Given the description of an element on the screen output the (x, y) to click on. 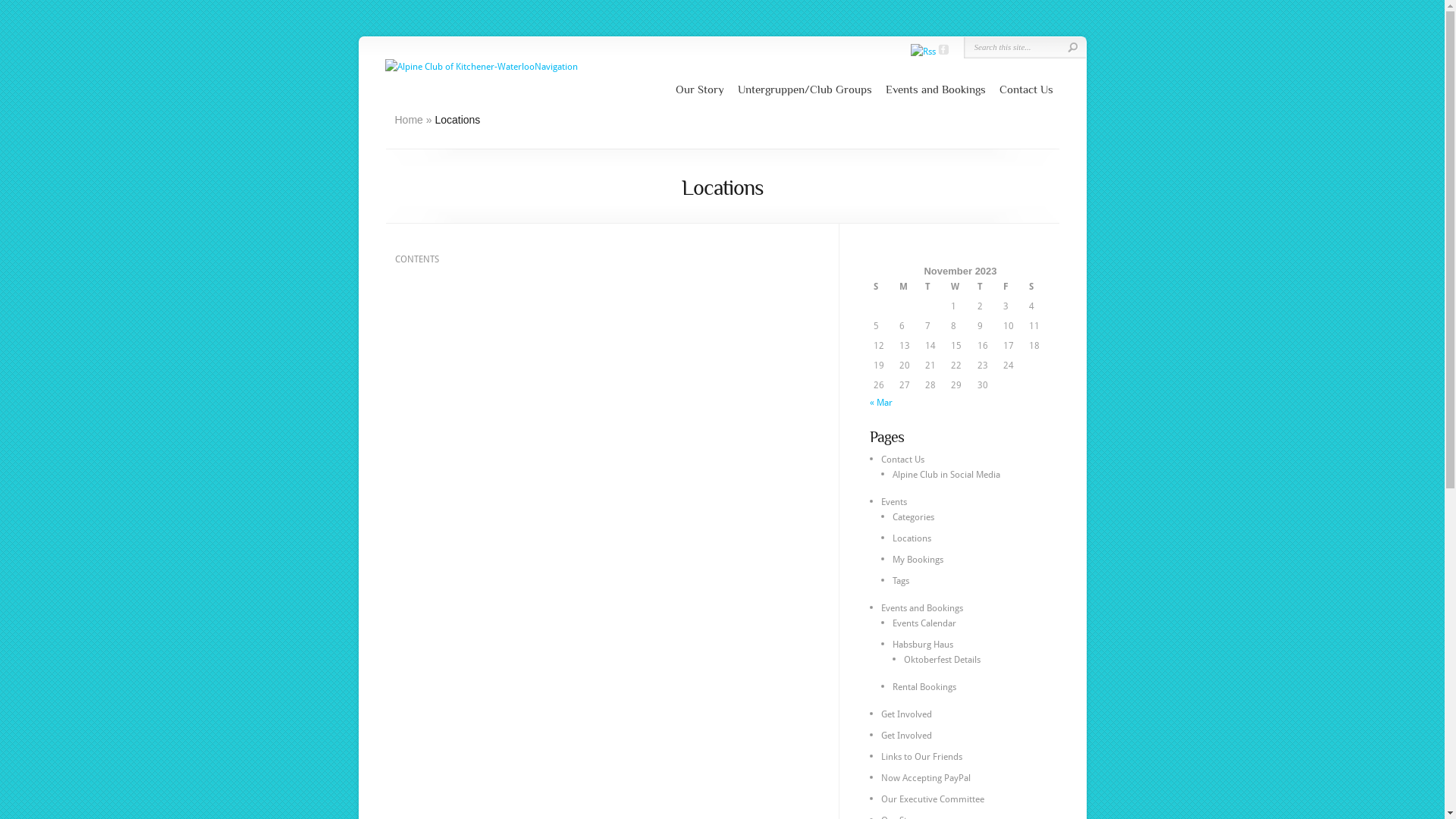
Tags Element type: text (899, 580)
Contact Us Element type: text (1026, 89)
Our Executive Committee Element type: text (932, 798)
Get Involved Element type: text (906, 714)
Events and Bookings Element type: text (935, 89)
Events and Bookings Element type: text (922, 607)
Navigation Element type: text (555, 66)
Oktoberfest Details Element type: text (941, 659)
Locations Element type: text (910, 538)
Contact Us Element type: text (902, 459)
Now Accepting PayPal Element type: text (925, 777)
Links to Our Friends Element type: text (921, 756)
Rental Bookings Element type: text (923, 686)
Habsburg Haus Element type: text (921, 644)
Get Involved Element type: text (906, 735)
Alpine Club in Social Media Element type: text (945, 474)
Events Calendar Element type: text (923, 623)
Home Element type: text (408, 119)
Events Element type: text (893, 501)
Our Story Element type: text (698, 89)
My Bookings Element type: text (916, 559)
Categories Element type: text (912, 516)
Untergruppen/Club Groups Element type: text (804, 89)
